Given the description of an element on the screen output the (x, y) to click on. 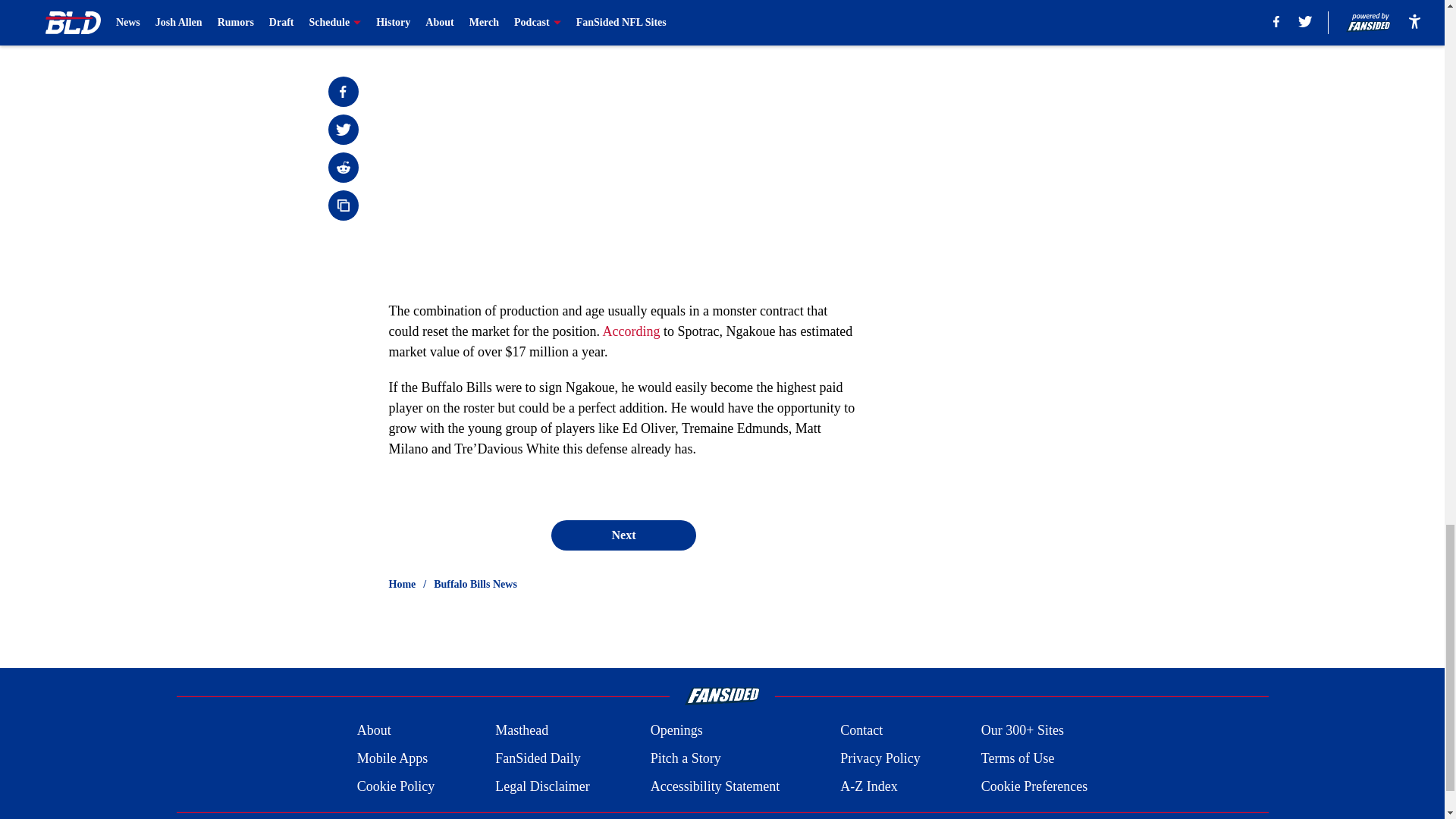
FanSided Daily (537, 758)
About (373, 730)
Home (401, 584)
Next (622, 535)
Mobile Apps (392, 758)
Masthead (521, 730)
Buffalo Bills News (474, 584)
Openings (676, 730)
Contact (861, 730)
According (630, 331)
